Given the description of an element on the screen output the (x, y) to click on. 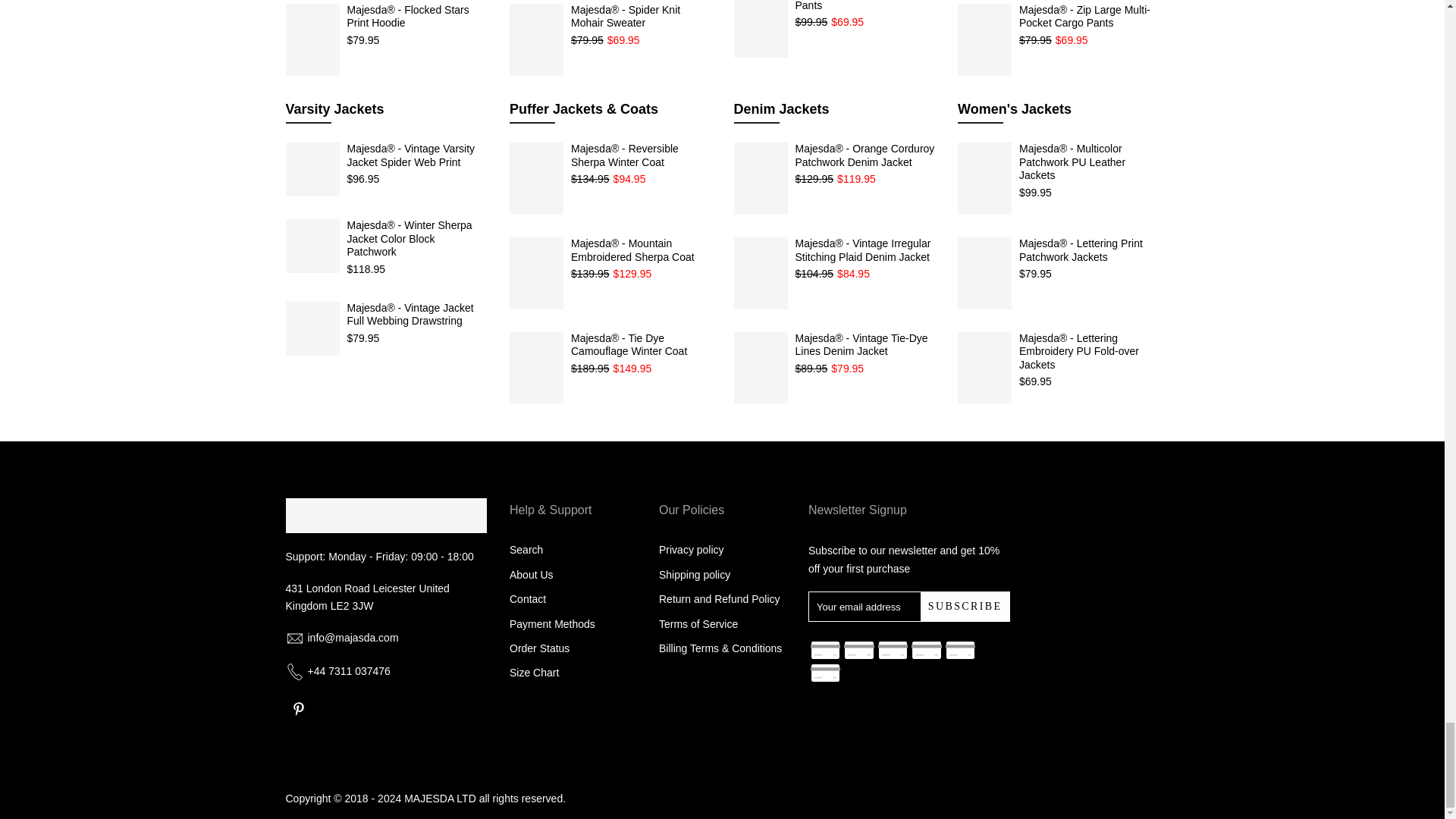
Follow on Pinterest (298, 708)
